Given the description of an element on the screen output the (x, y) to click on. 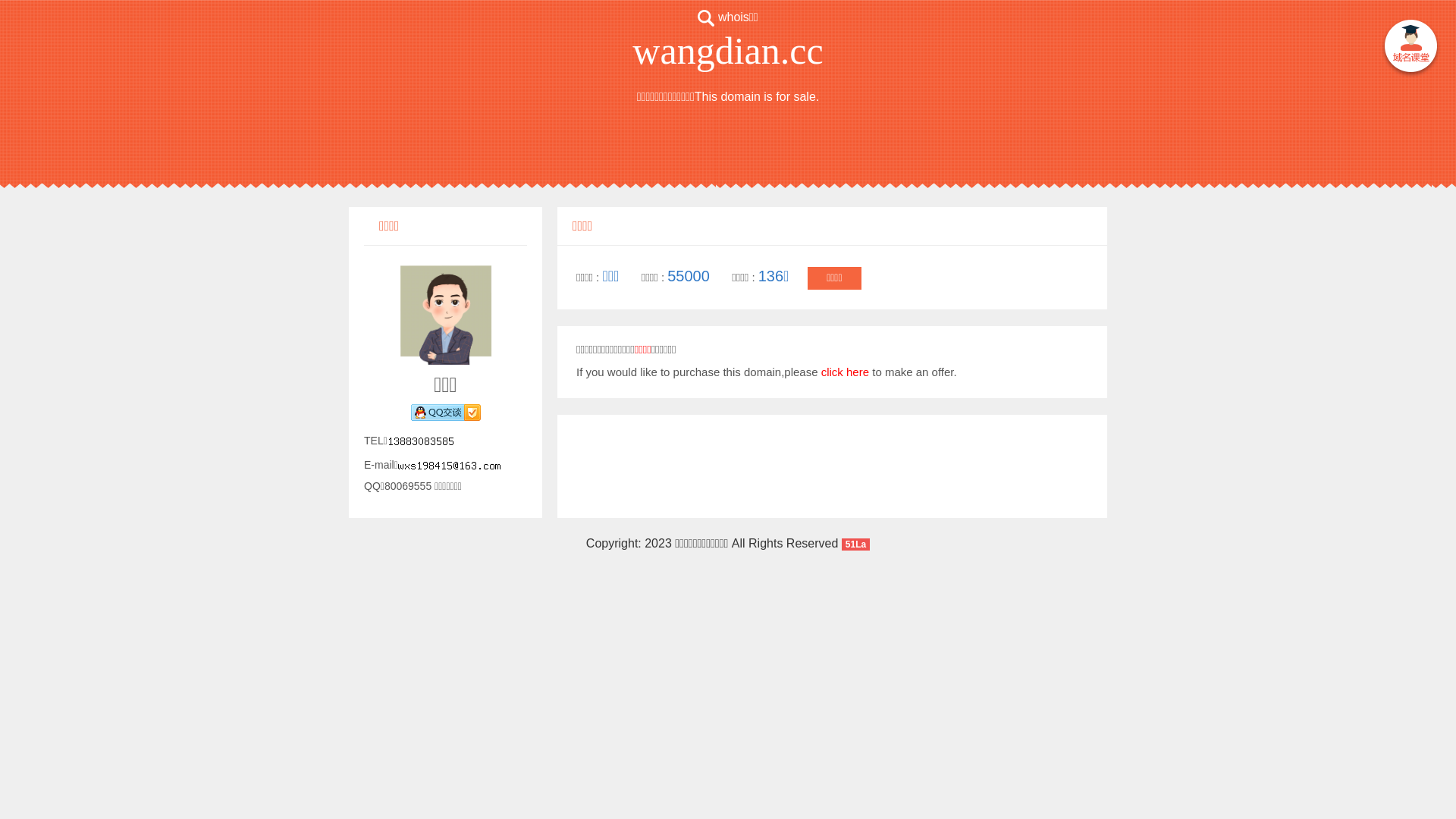
51La Element type: text (855, 542)
  Element type: text (1410, 48)
click here Element type: text (845, 371)
